Given the description of an element on the screen output the (x, y) to click on. 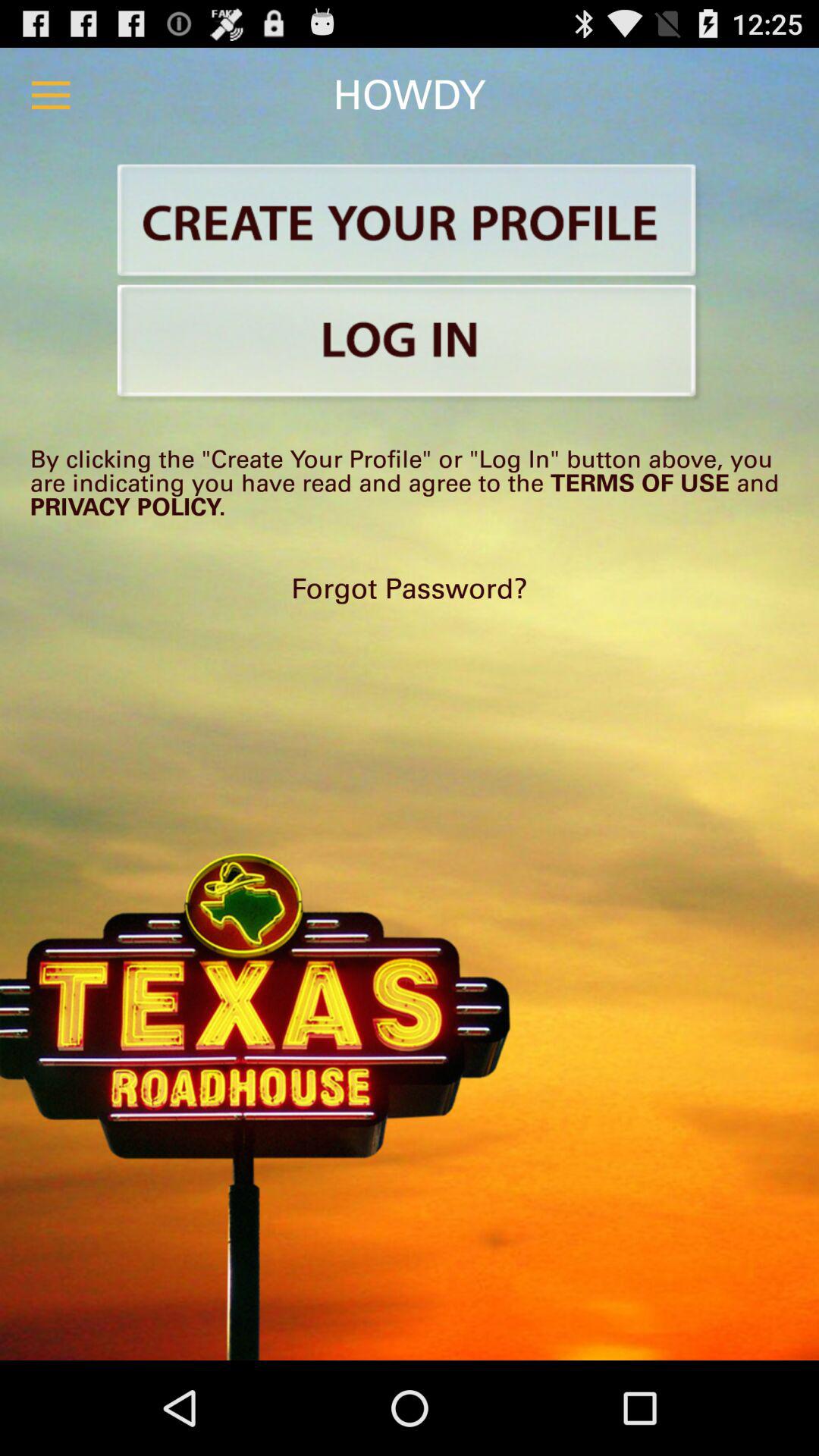
click icon above forgot password? (409, 482)
